Given the description of an element on the screen output the (x, y) to click on. 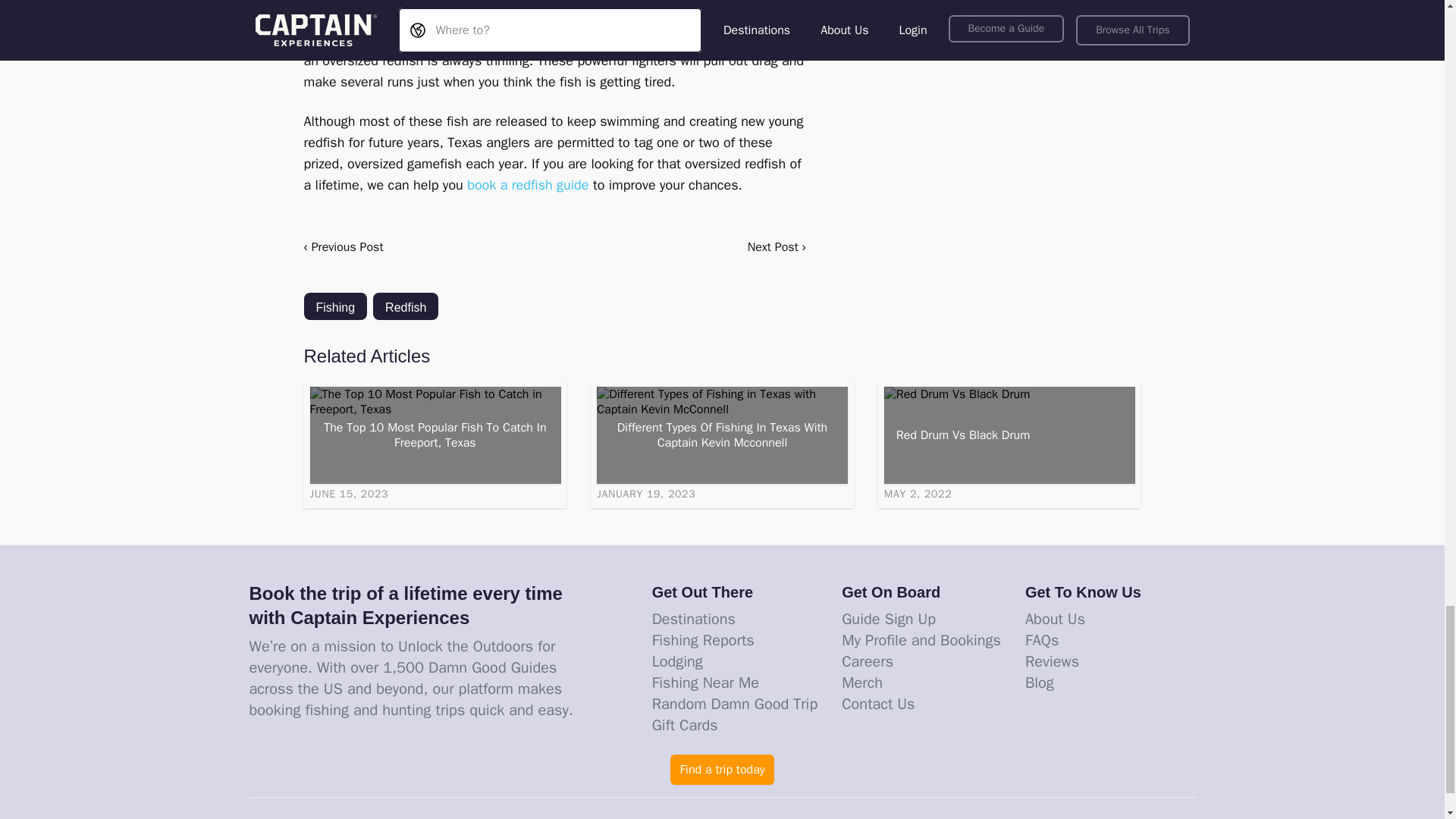
Red Drum Vs Black Drum (1009, 435)
book a redfish guide (527, 184)
Lodging (677, 660)
The Top 10 Most Popular Fish to Catch in Freeport, Texas (434, 435)
Redfish (405, 306)
Destinations (693, 618)
Fishing Reports (703, 640)
The Top 10 Most Popular Fish To Catch In Freeport, Texas (434, 435)
Red Drum Vs Black Drum (1009, 435)
Fishing (334, 306)
